Given the description of an element on the screen output the (x, y) to click on. 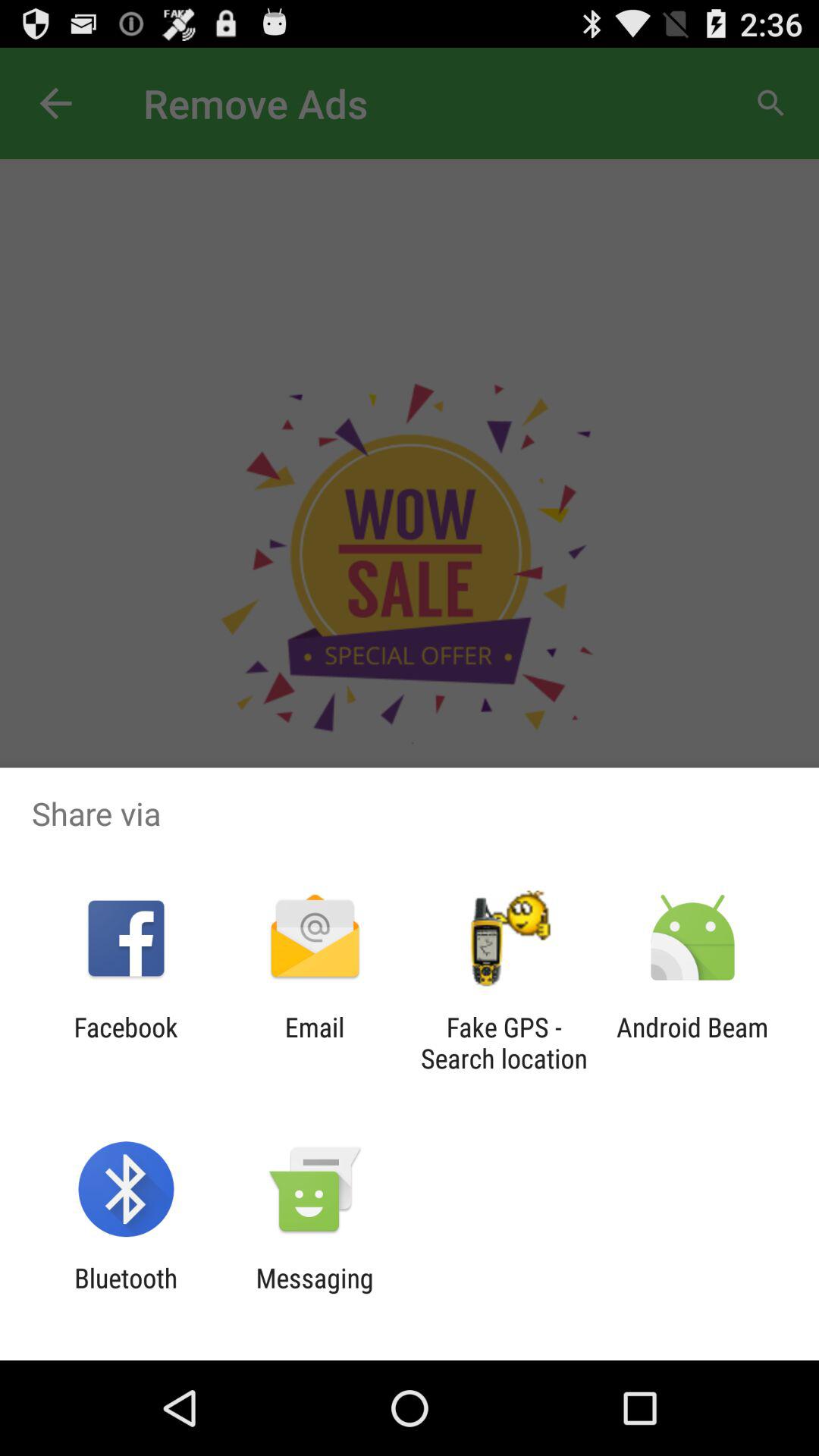
launch the item to the left of the messaging item (125, 1293)
